Given the description of an element on the screen output the (x, y) to click on. 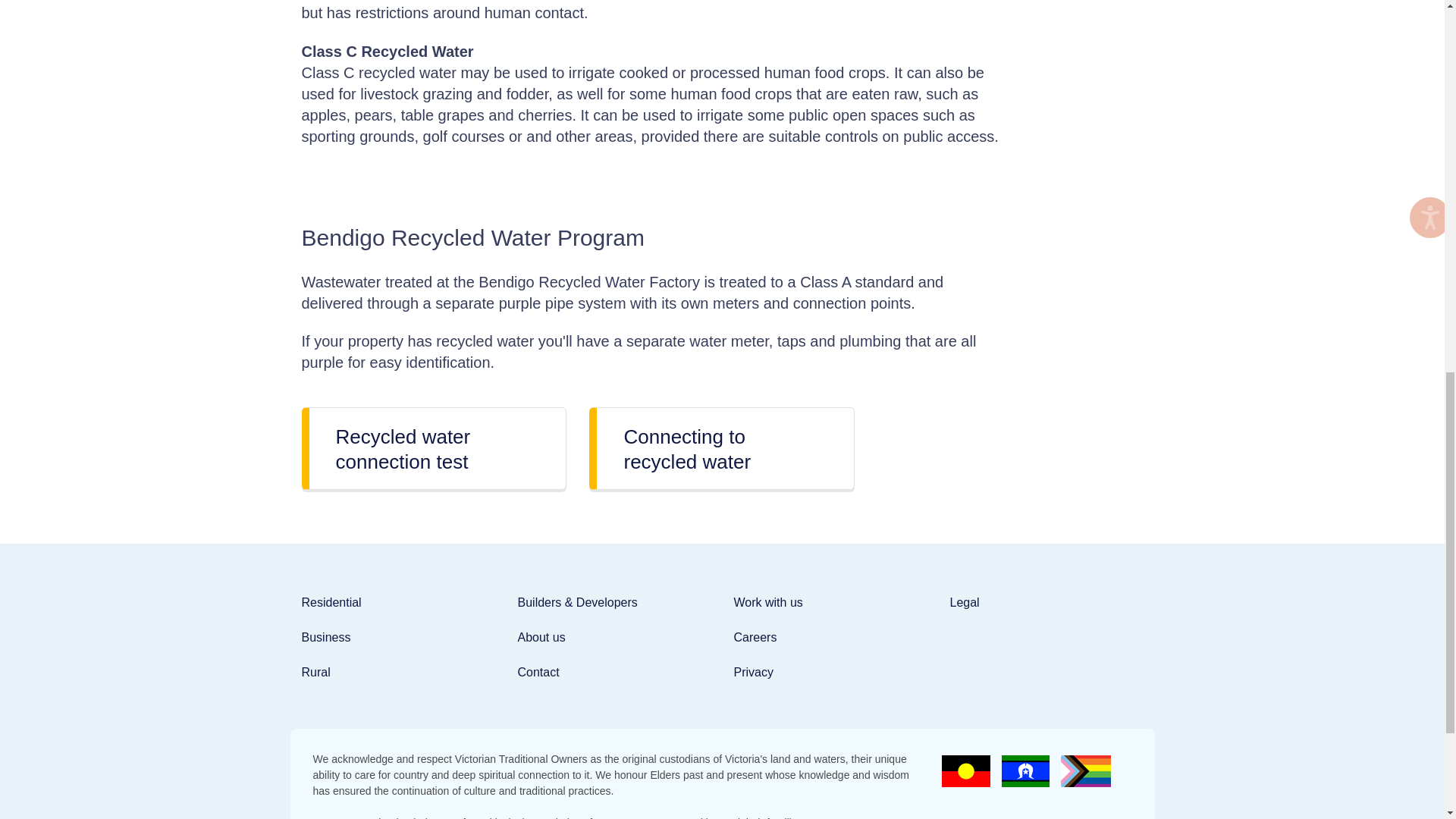
Rural (315, 671)
Residential (331, 602)
Business (325, 636)
